Given the description of an element on the screen output the (x, y) to click on. 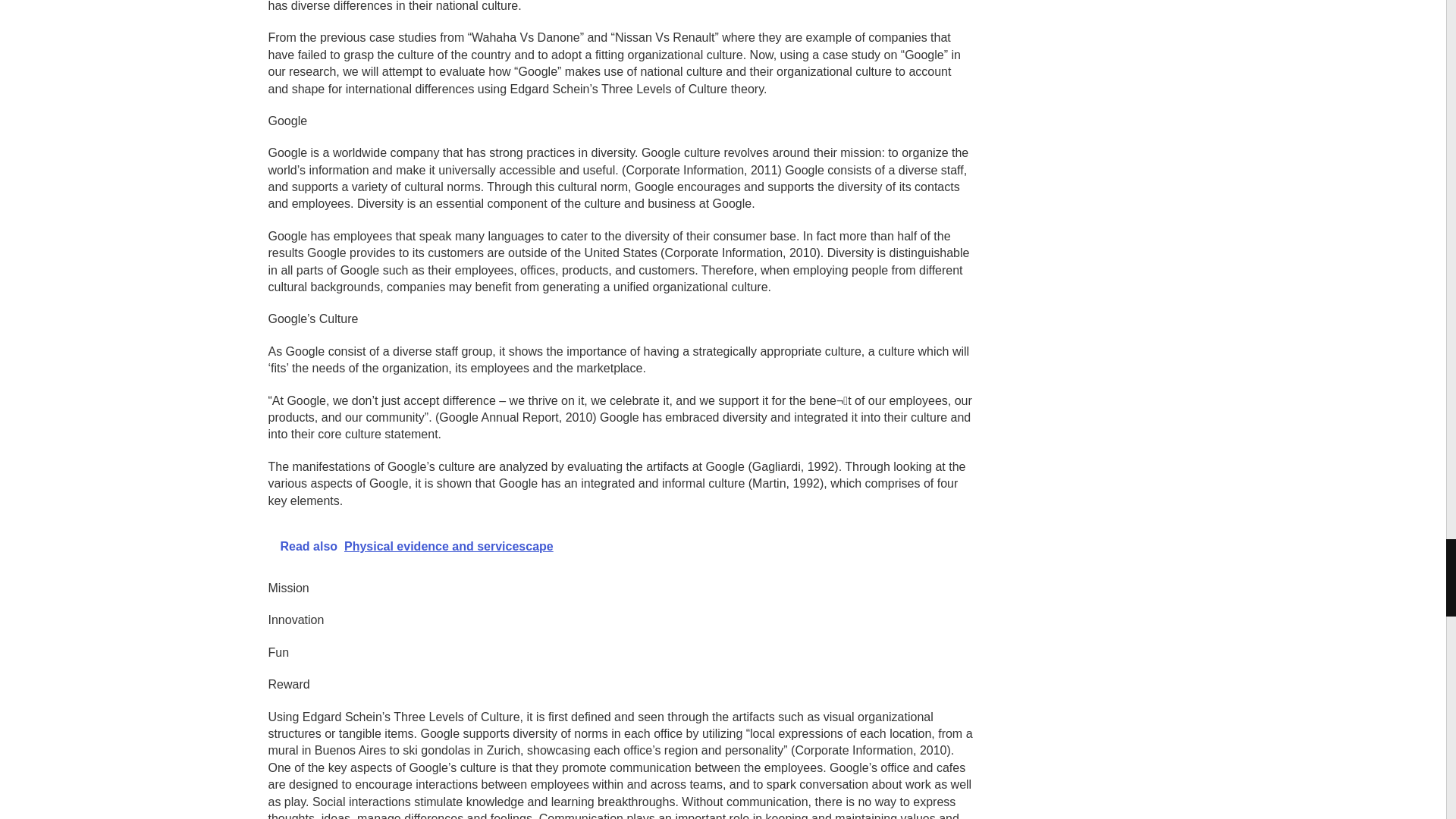
Read also  Physical evidence and servicescape (620, 546)
